Given the description of an element on the screen output the (x, y) to click on. 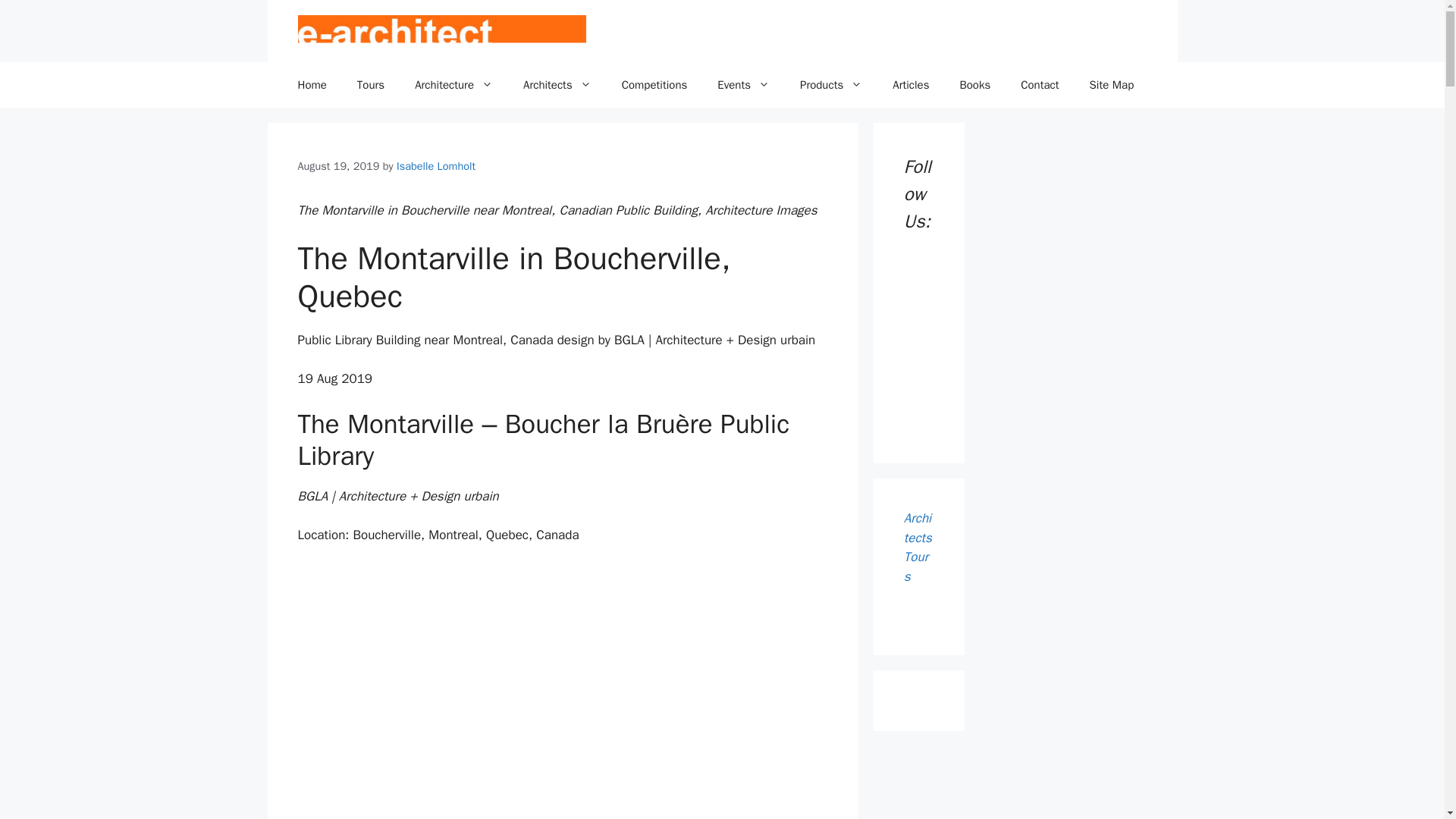
Contact (1040, 84)
View all posts by Isabelle Lomholt (436, 165)
Tours (370, 84)
Home (311, 84)
Articles (910, 84)
twitter (919, 320)
pinterest (919, 357)
Site Map (1112, 84)
Events (742, 84)
facebook (919, 284)
